Given the description of an element on the screen output the (x, y) to click on. 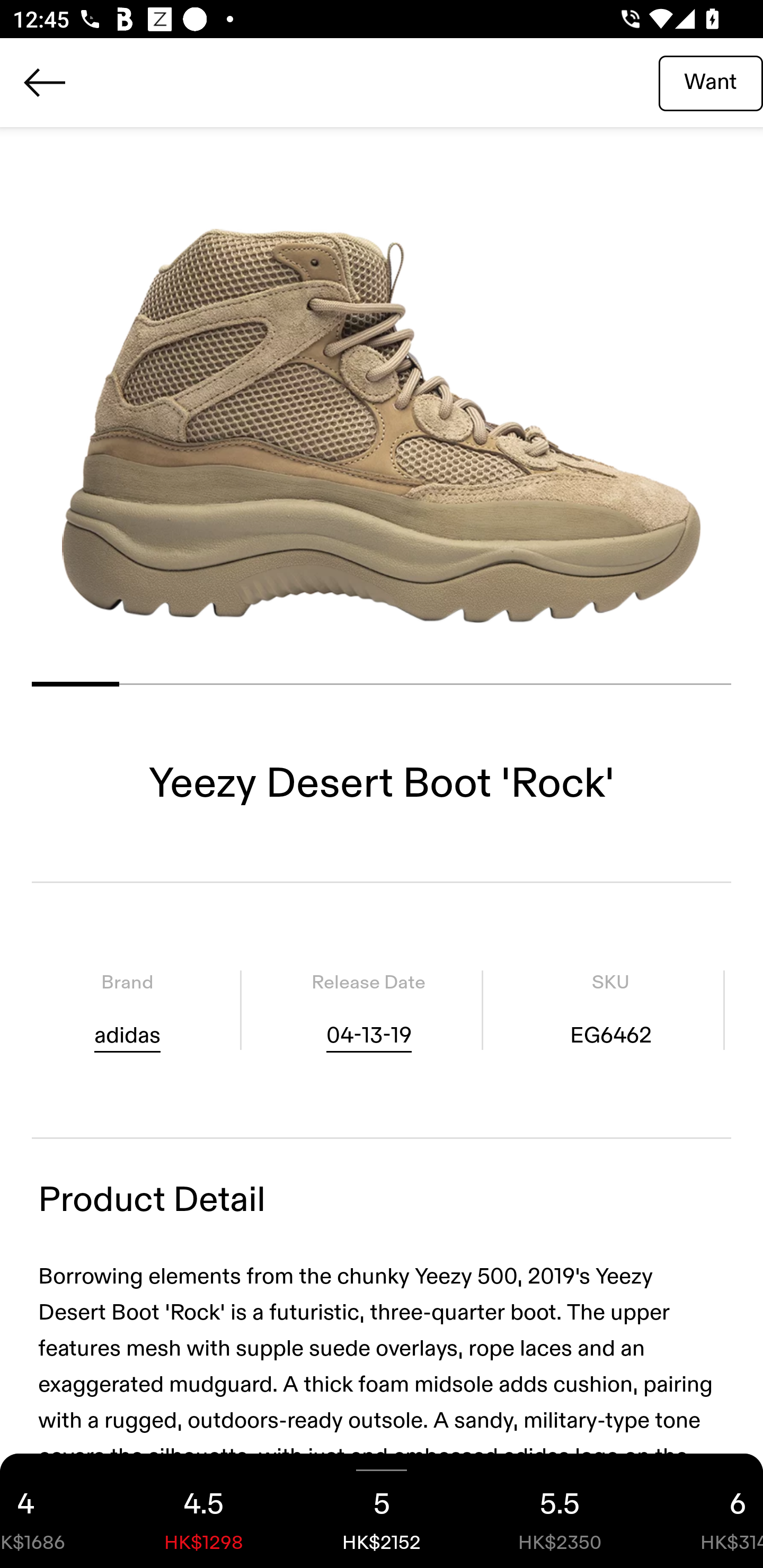
Want (710, 82)
Brand adidas (126, 1009)
Release Date 04-13-19 (368, 1009)
SKU EG6462 (609, 1009)
4 HK$1686 (57, 1510)
4.5 HK$1298 (203, 1510)
5 HK$2152 (381, 1510)
5.5 HK$2350 (559, 1510)
6 HK$3141 (705, 1510)
